Given the description of an element on the screen output the (x, y) to click on. 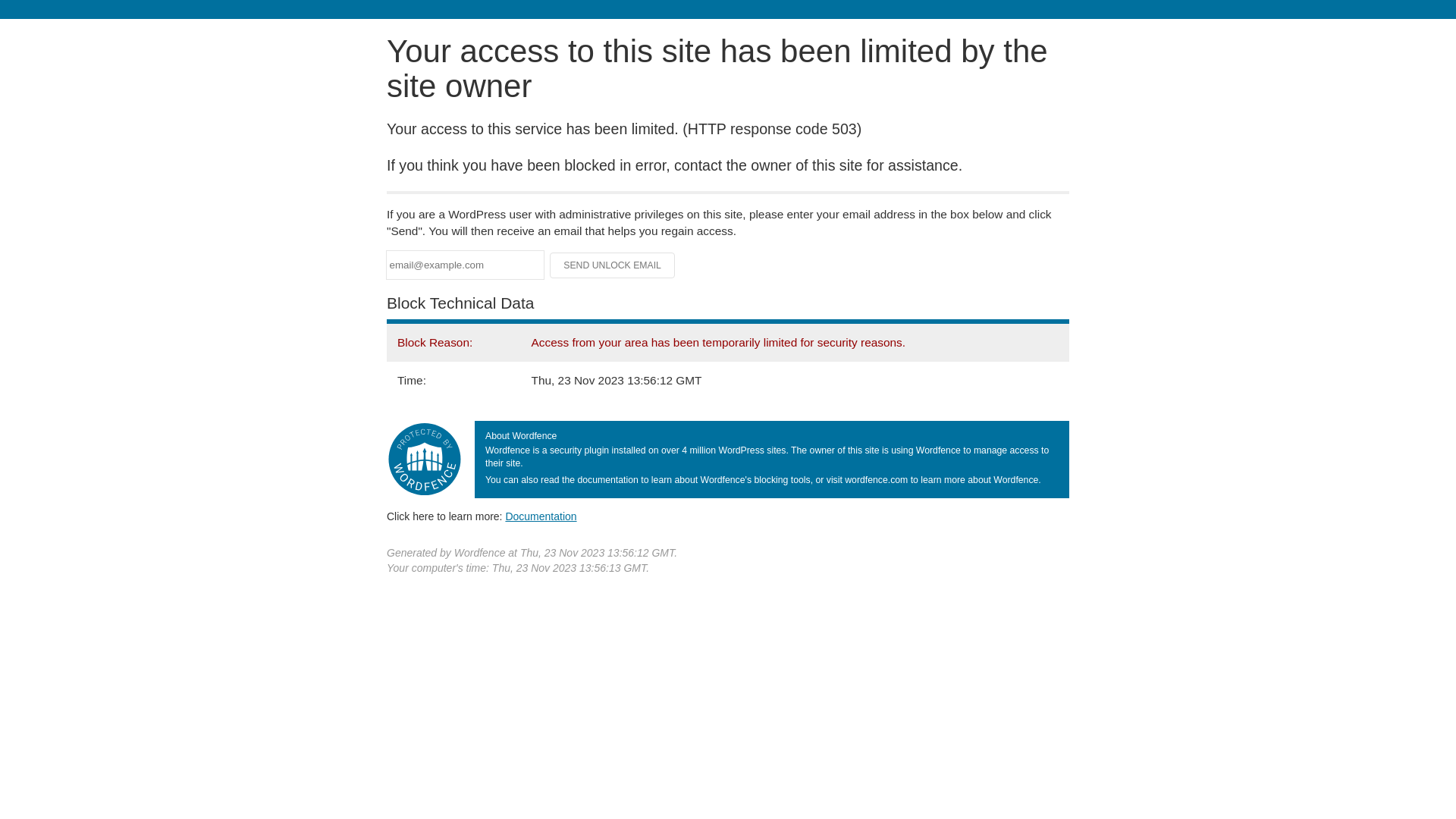
Send Unlock Email Element type: text (612, 265)
Documentation Element type: text (540, 516)
